Given the description of an element on the screen output the (x, y) to click on. 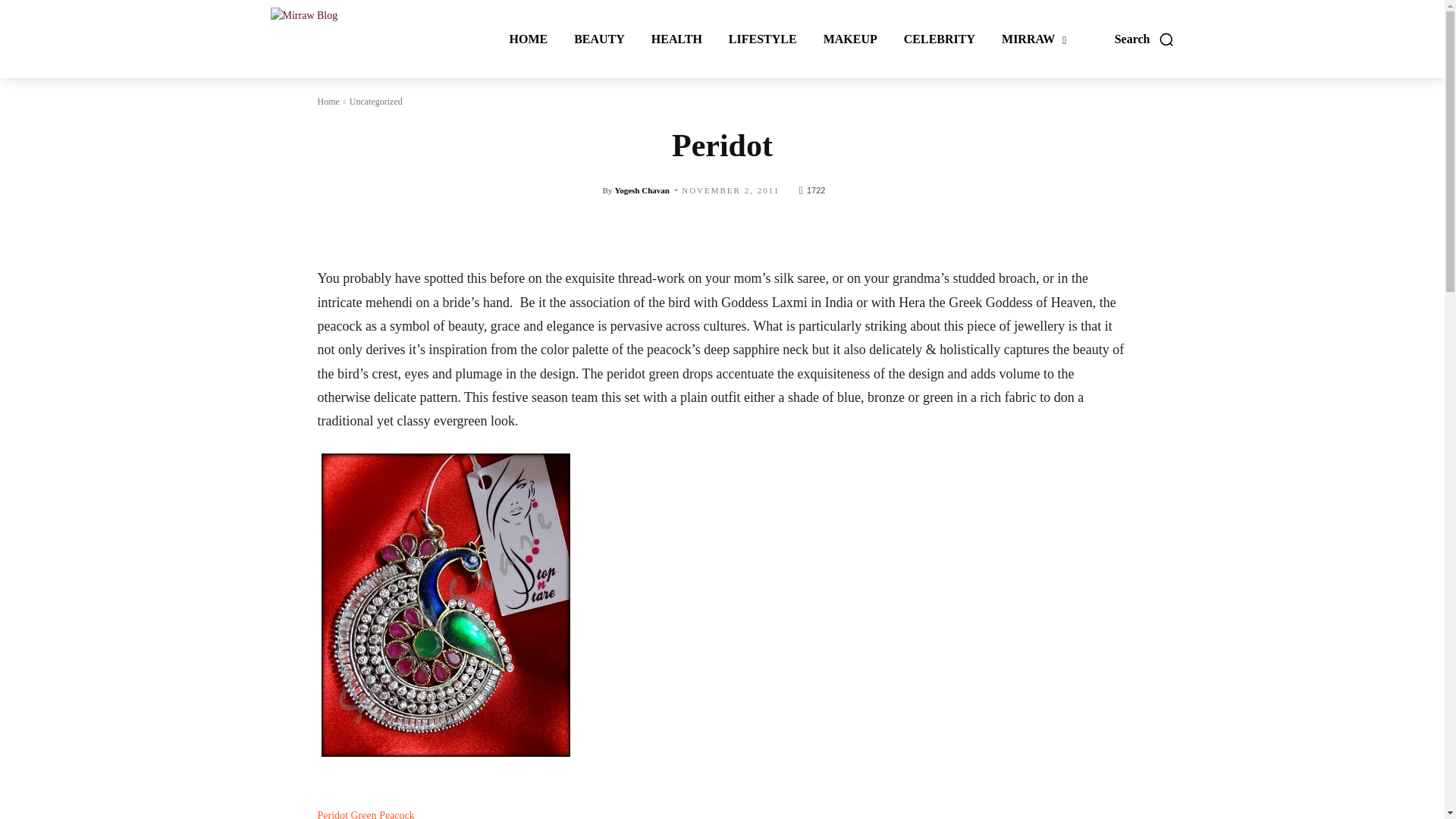
CELEBRITY (938, 39)
Uncategorized (376, 101)
HEALTH (676, 39)
View all posts in Uncategorized (376, 101)
Mirraw Blog (339, 38)
Yogesh Chavan (641, 190)
MAKEUP (849, 39)
Search (1144, 39)
Home (328, 101)
MIRRAW (1033, 39)
